Given the description of an element on the screen output the (x, y) to click on. 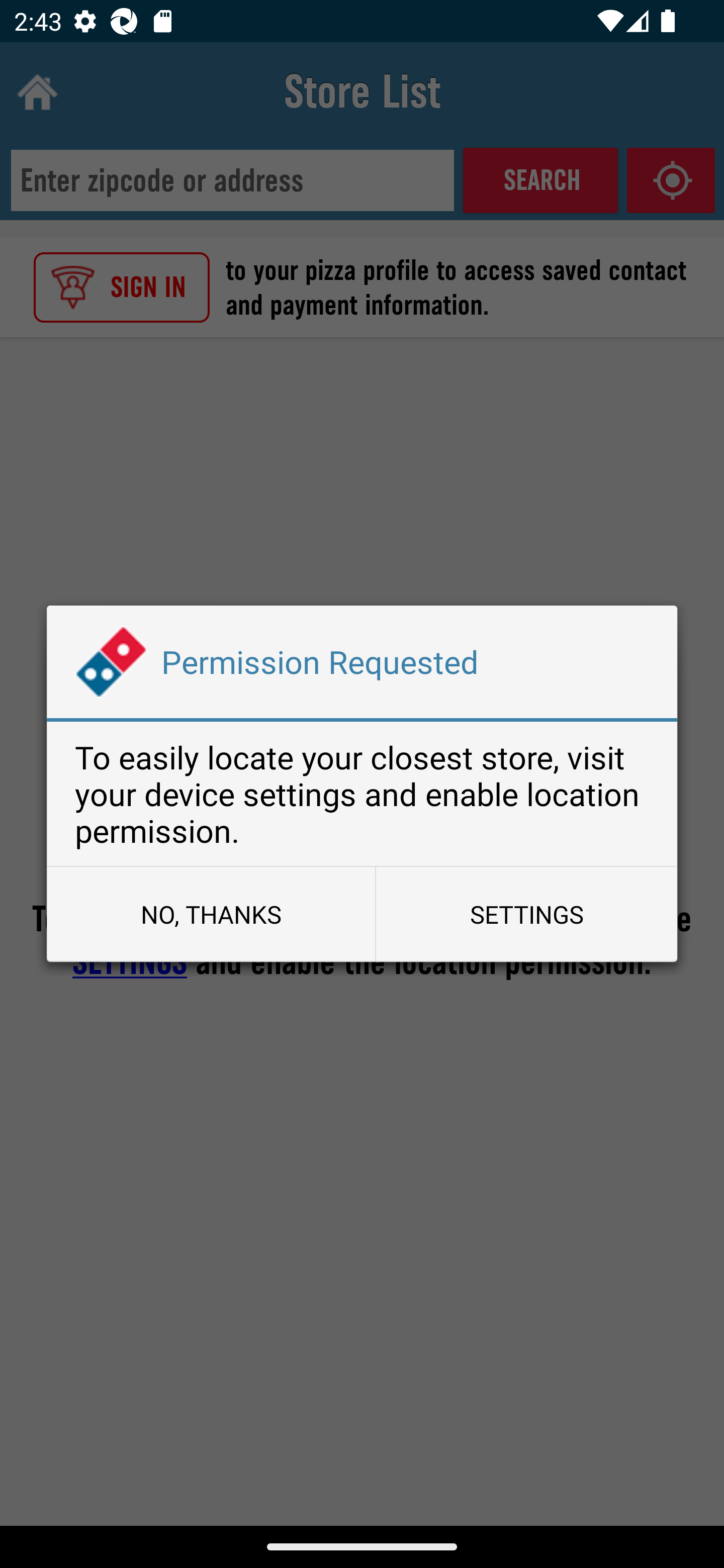
NO, THANKS (211, 914)
SETTINGS (525, 914)
